Given the description of an element on the screen output the (x, y) to click on. 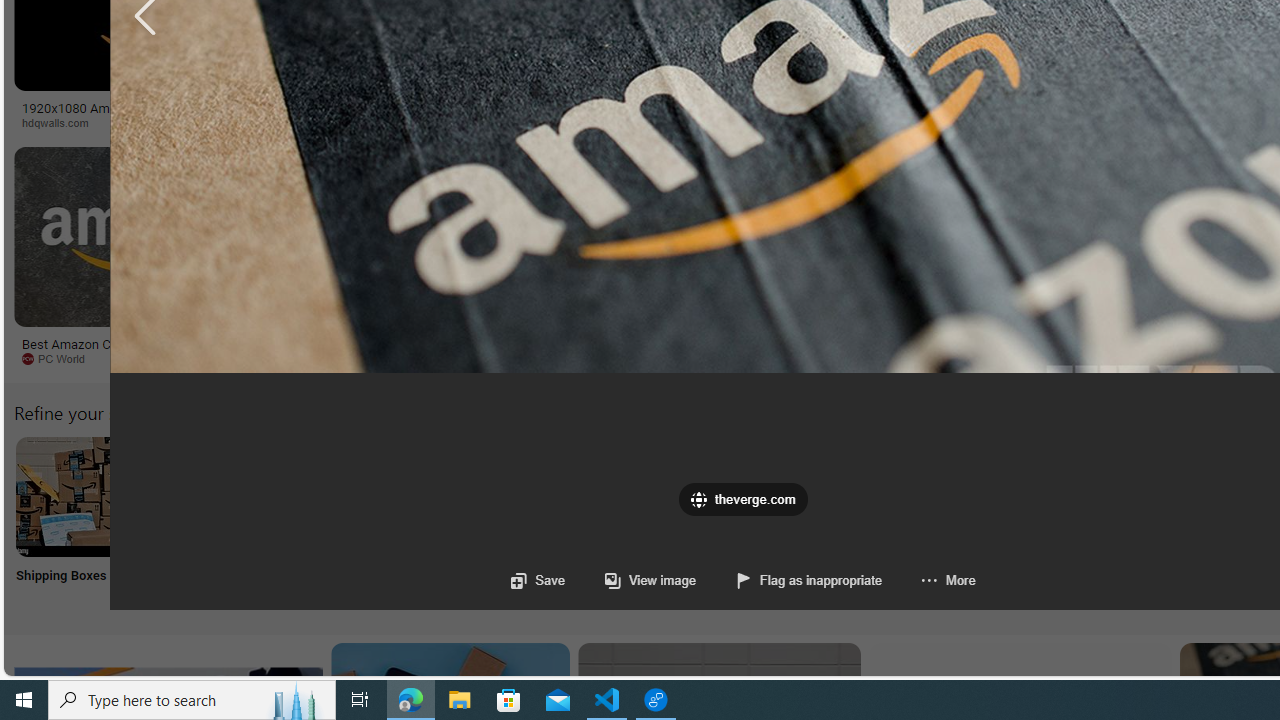
Amazon Wish List (999, 496)
Amazon Online Store (1131, 496)
GOBankingRates (485, 123)
Package Delivery (735, 521)
favicon theverge.com (742, 499)
How Much Is Amazon's Net Worth? | GOBankingRates (485, 114)
Amazon Jobs Near Me Jobs Near Me (604, 521)
Shipping Boxes (74, 521)
Amazon Log into My Account Log into My Account (472, 521)
